Given the description of an element on the screen output the (x, y) to click on. 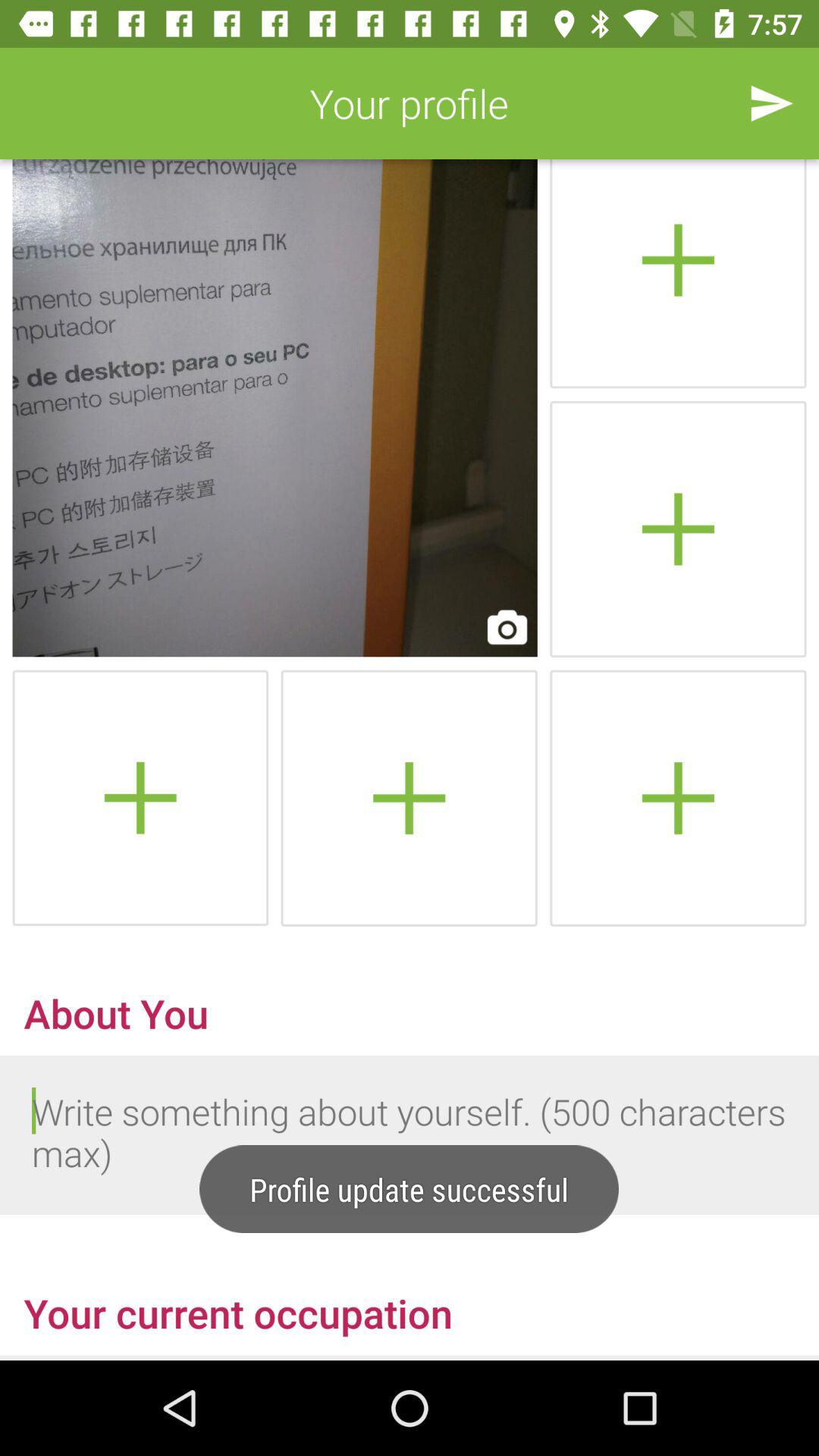
add archive (677, 273)
